Given the description of an element on the screen output the (x, y) to click on. 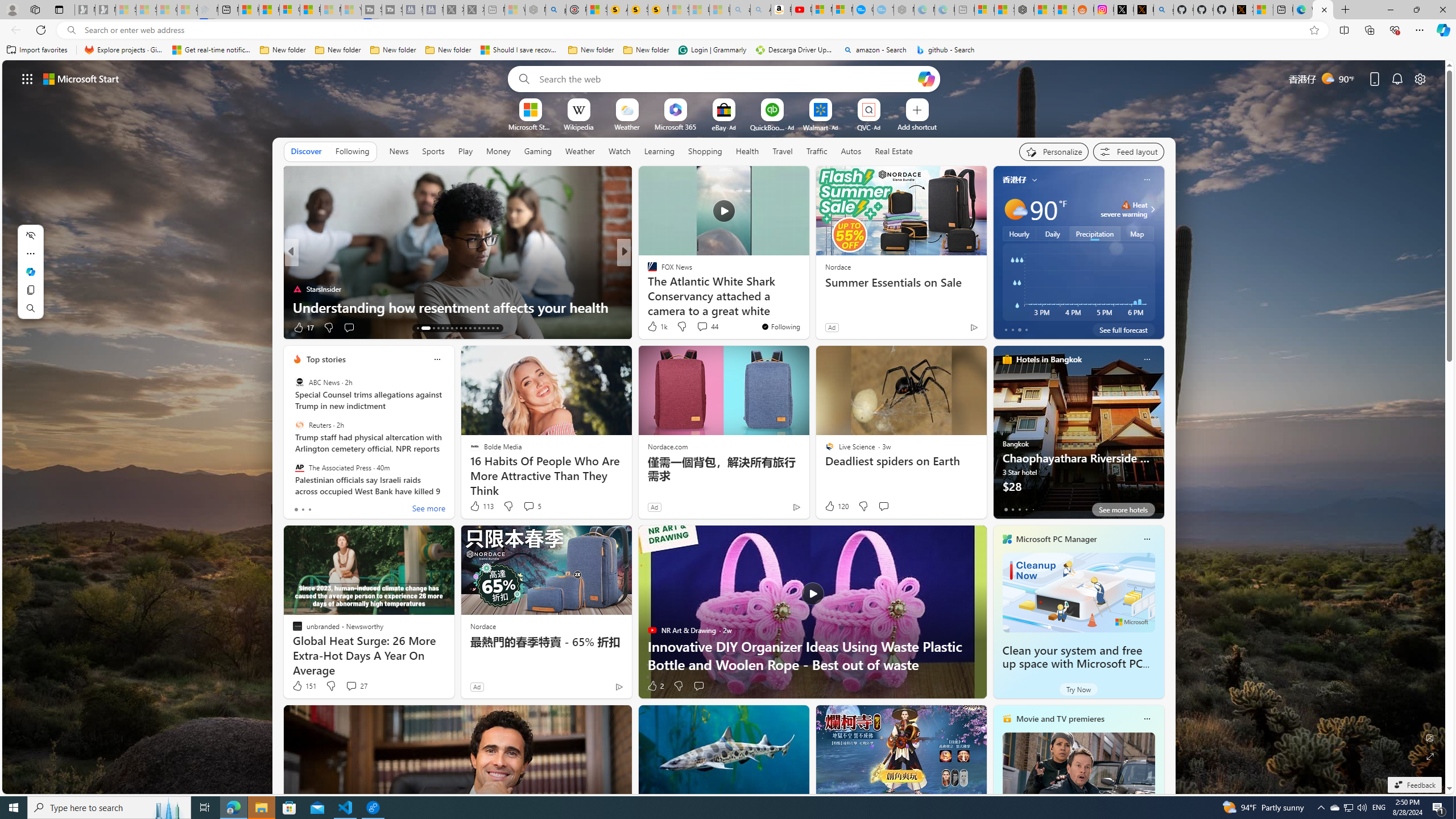
View comments 1 Comment (703, 327)
Enter your search term (726, 78)
AutomationID: tab-29 (497, 328)
AutomationID: backgroundImagePicture (723, 426)
2 Like (655, 685)
Michelle Starr, Senior Journalist at ScienceAlert (657, 9)
3 Everyday Phrases You Might Not Realize Are Actually Rude (807, 298)
hotels-header-icon (1006, 358)
Dislike (678, 685)
